Given the description of an element on the screen output the (x, y) to click on. 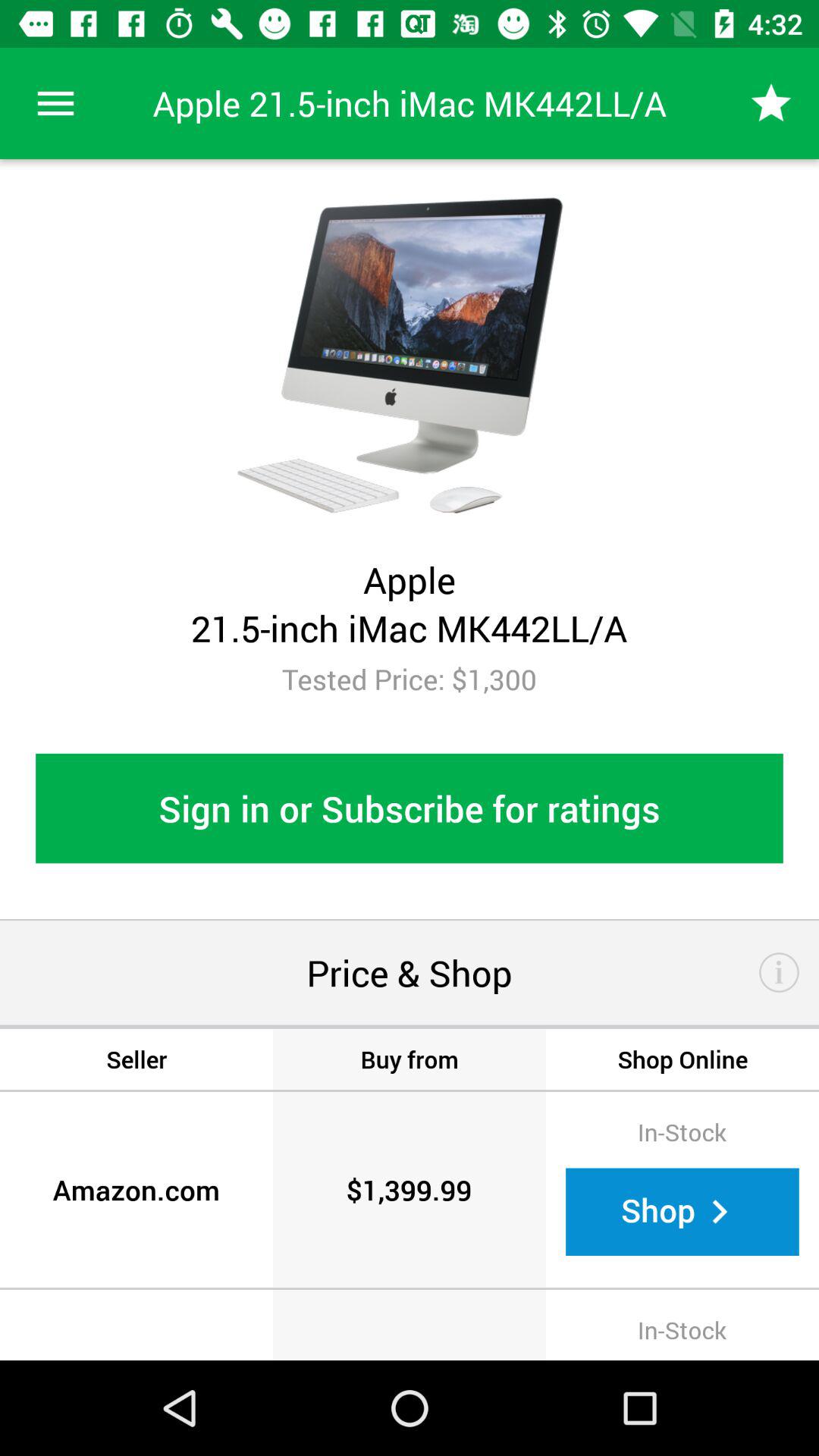
click item above tested price 1 icon (771, 103)
